Given the description of an element on the screen output the (x, y) to click on. 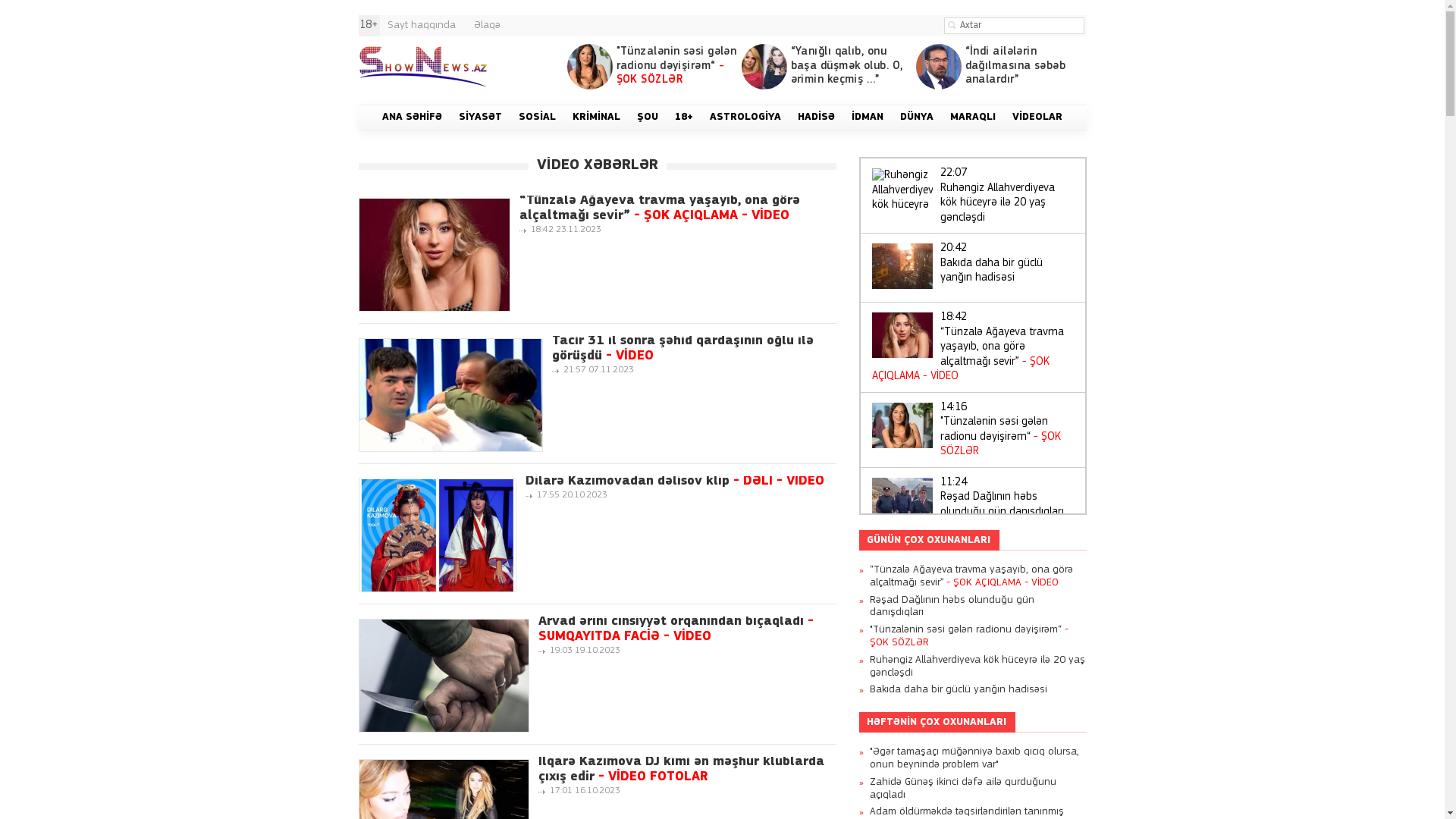
ASTROLOGIYA Element type: text (745, 117)
KRIMINAL Element type: text (595, 117)
18+ Element type: text (683, 117)
VIDEOLAR Element type: text (1037, 117)
Axtar Element type: text (951, 24)
Axtar Element type: hover (951, 24)
MARAQLI Element type: text (972, 117)
SOSIAL Element type: text (537, 117)
Shownews.az Element type: hover (421, 66)
